Given the description of an element on the screen output the (x, y) to click on. 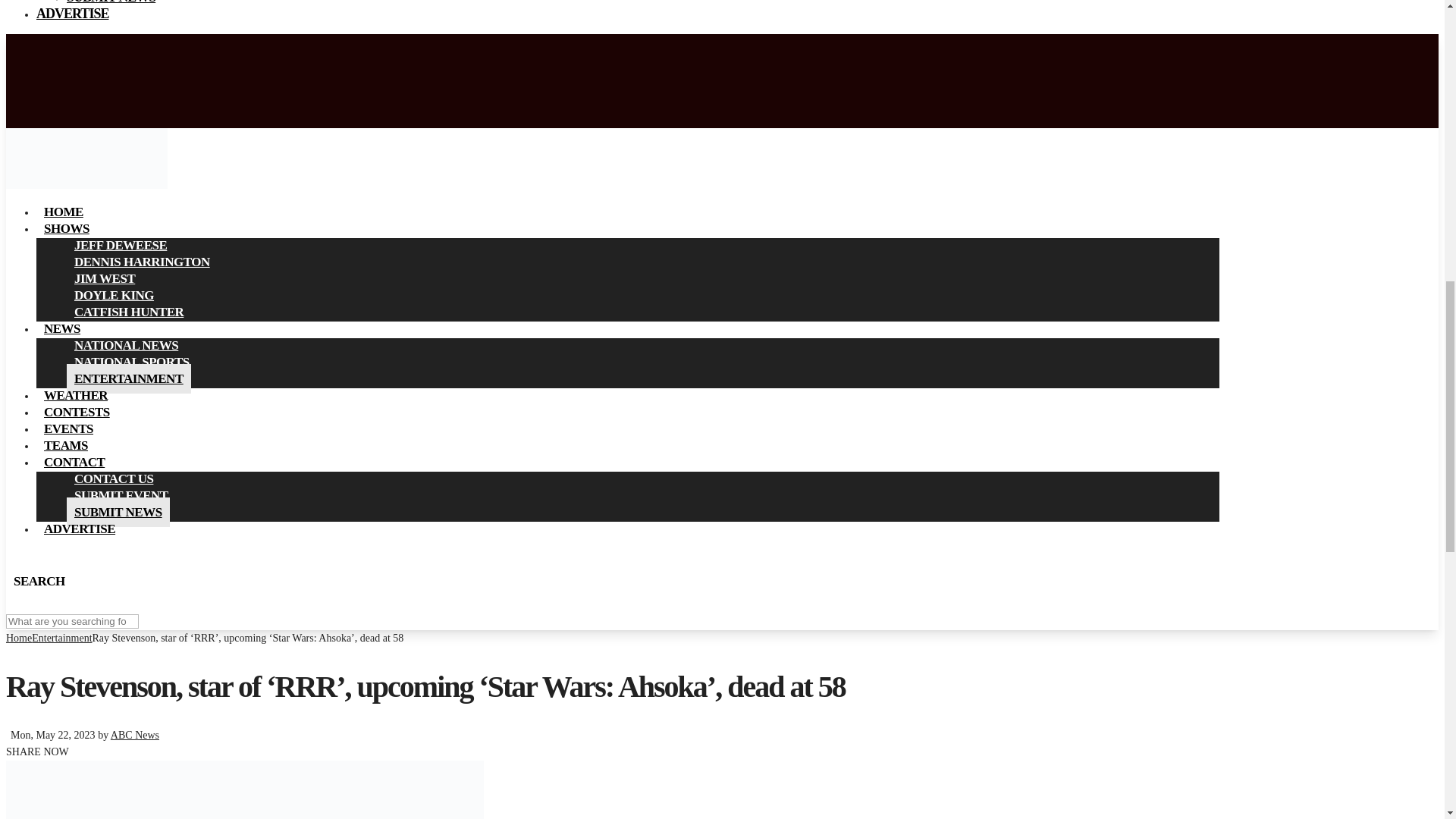
Posts by ABC News (134, 735)
Search for: (71, 621)
Country Legends 88.5 (86, 184)
